Given the description of an element on the screen output the (x, y) to click on. 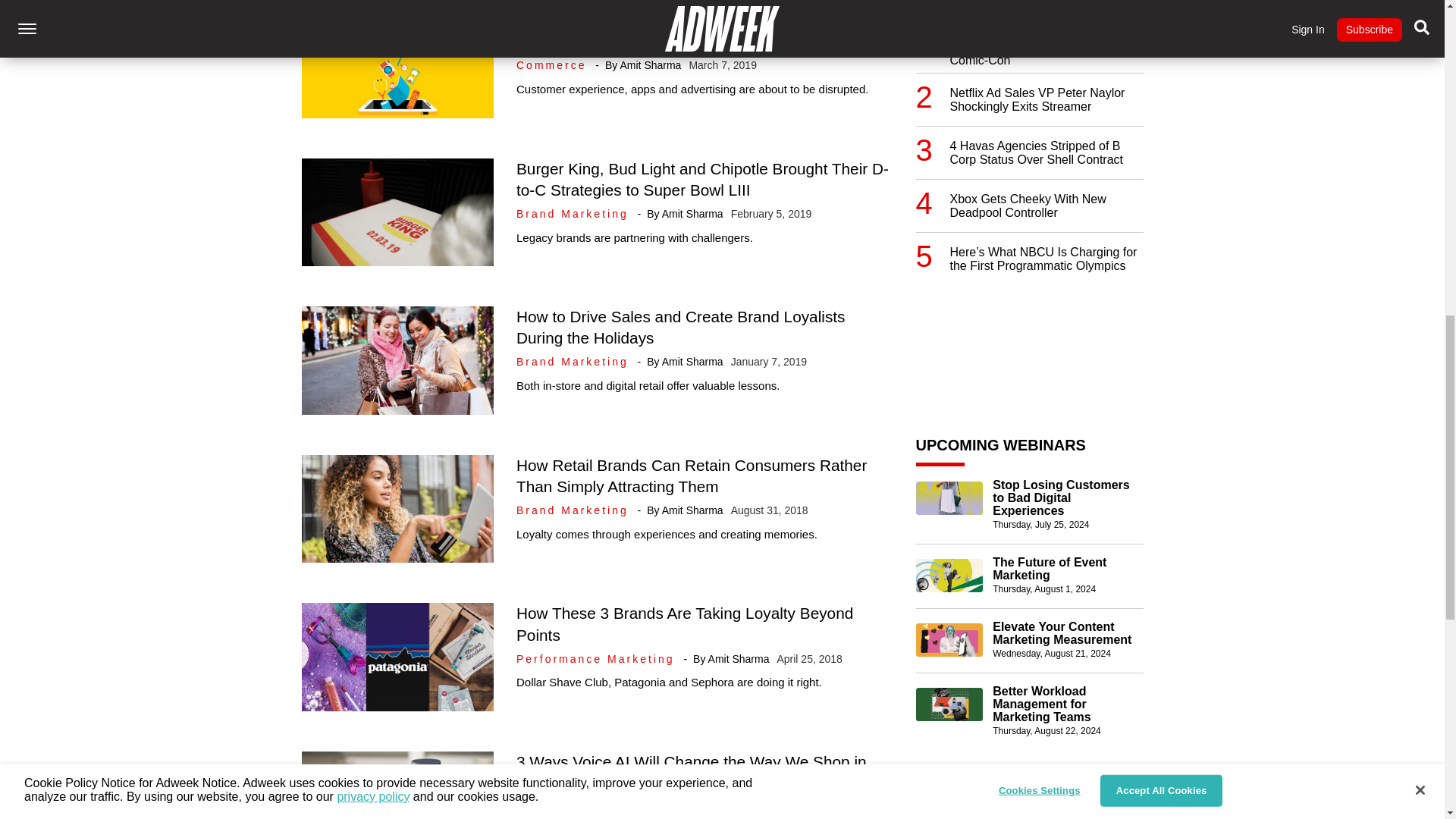
Amit Sharma (692, 361)
Amit Sharma (692, 214)
Amit Sharma (692, 510)
Nativo-Webinar-082124-Header (948, 639)
How These 3 Brands Are Taking Loyalty Beyond Points (684, 623)
Adobe-Webinar-082224-Header (948, 704)
Amit Sharma (650, 64)
CventWebinar08012Header (948, 575)
Amit Sharma (738, 658)
